Given the description of an element on the screen output the (x, y) to click on. 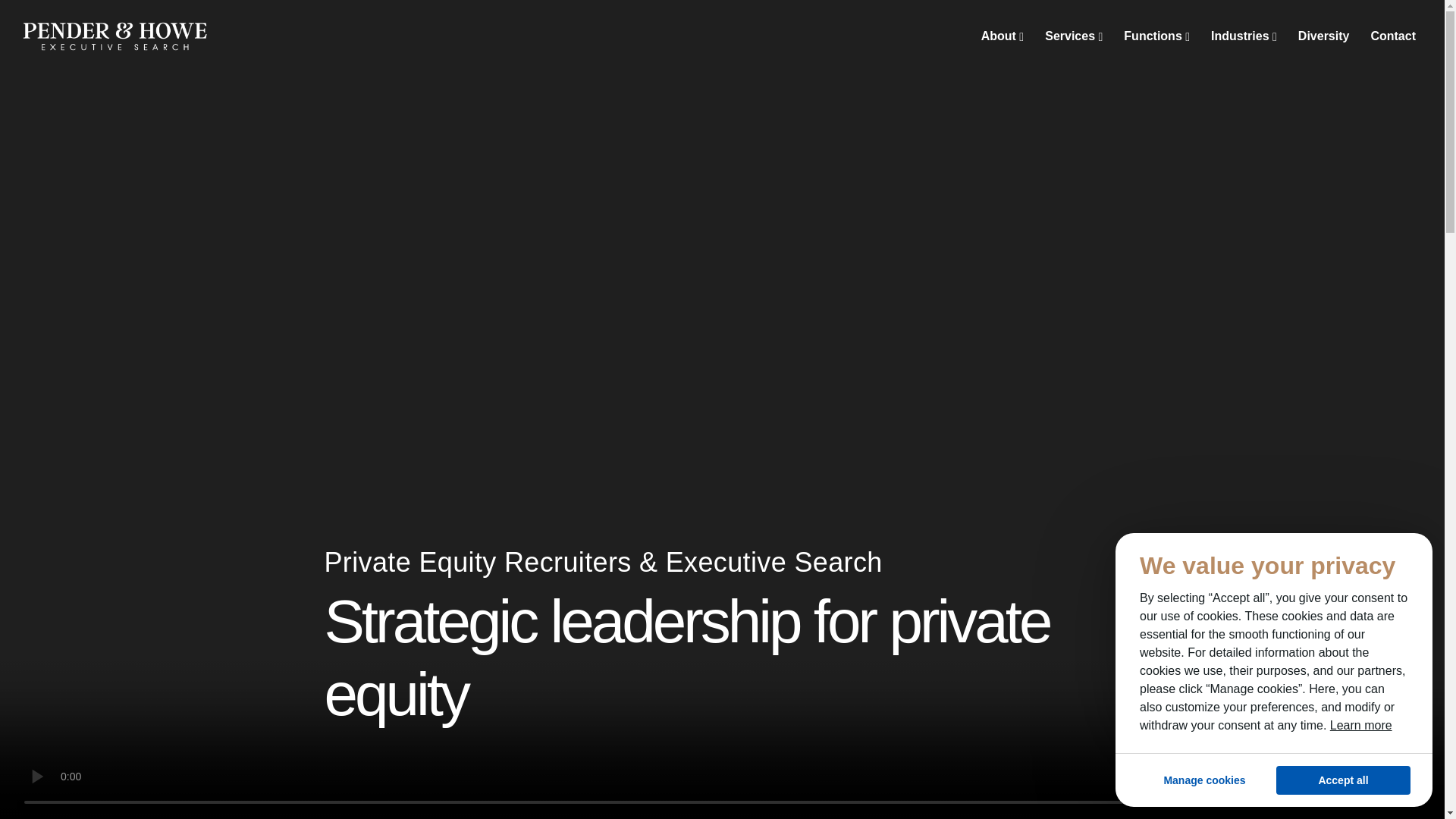
Industries (1243, 36)
Contact (1392, 36)
Services (1073, 36)
Diversity (1323, 36)
Functions (1156, 36)
About (1003, 36)
